Given the description of an element on the screen output the (x, y) to click on. 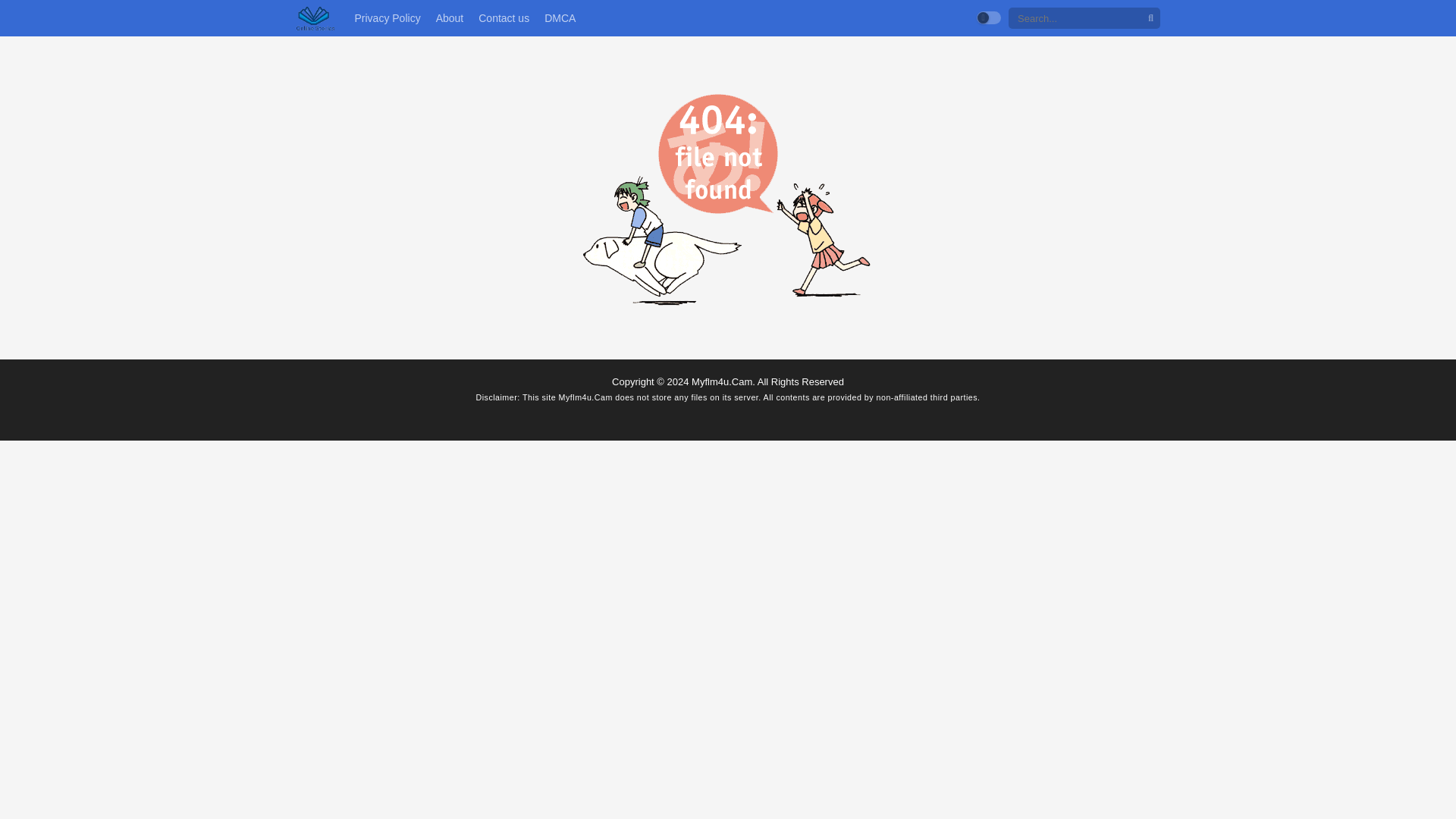
Myflm4u.Cam - Stories Reading Hub (315, 17)
About (449, 18)
Privacy Policy (386, 18)
Contact us (503, 18)
DMCA (559, 18)
